Given the description of an element on the screen output the (x, y) to click on. 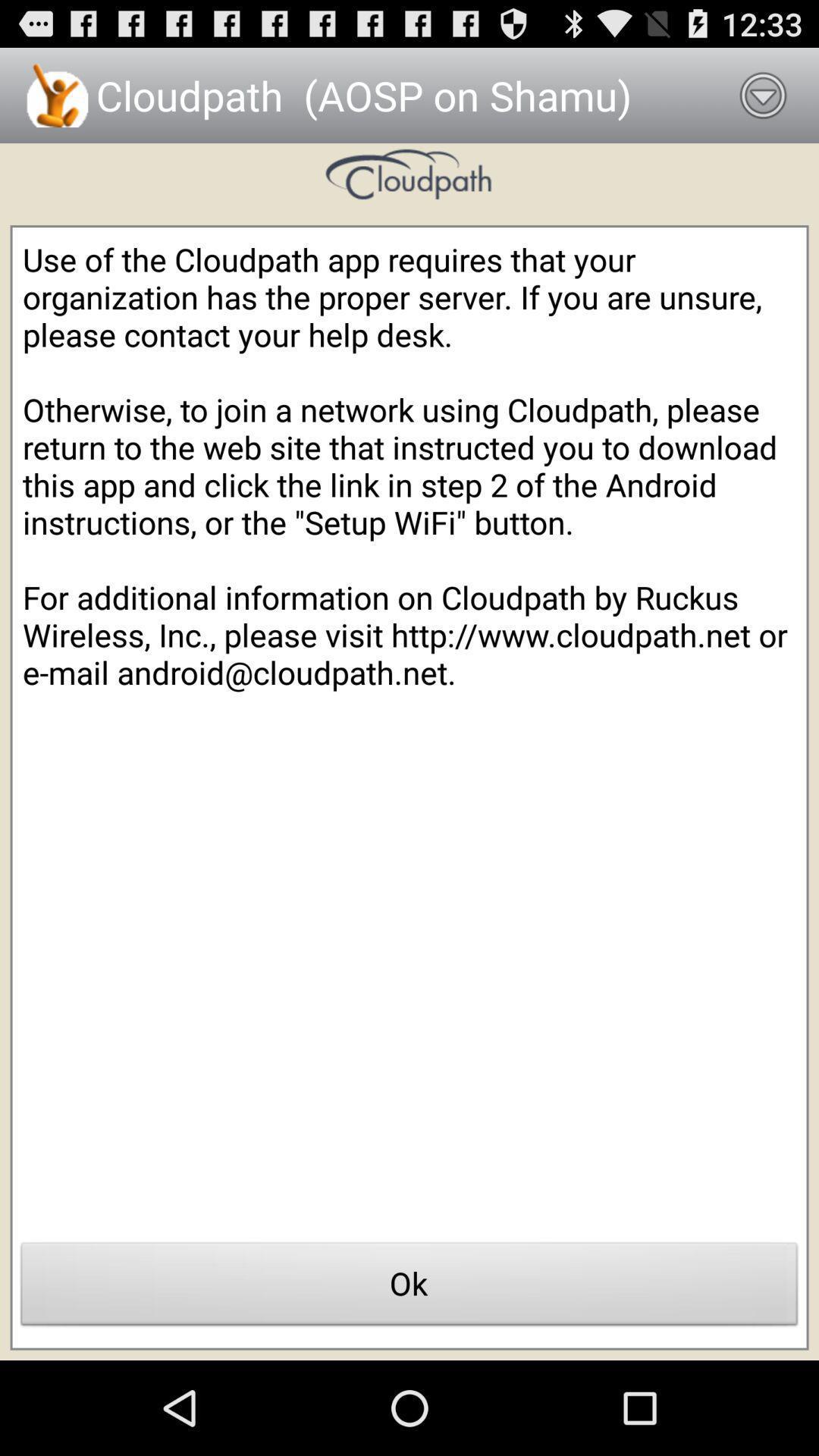
press the ok (409, 1287)
